Given the description of an element on the screen output the (x, y) to click on. 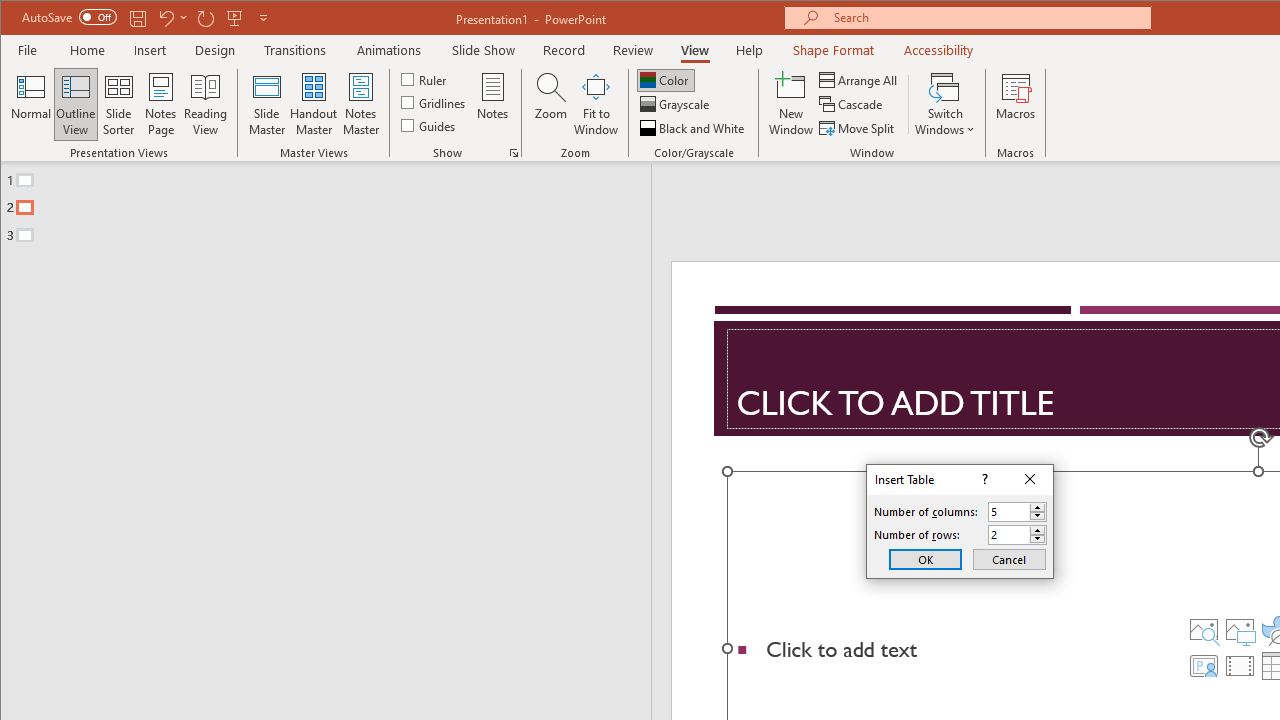
Switch Windows (944, 104)
OK (925, 558)
Notes Page (160, 104)
Insert Cameo (1203, 665)
Zoom... (550, 104)
Number of columns (1017, 511)
